Given the description of an element on the screen output the (x, y) to click on. 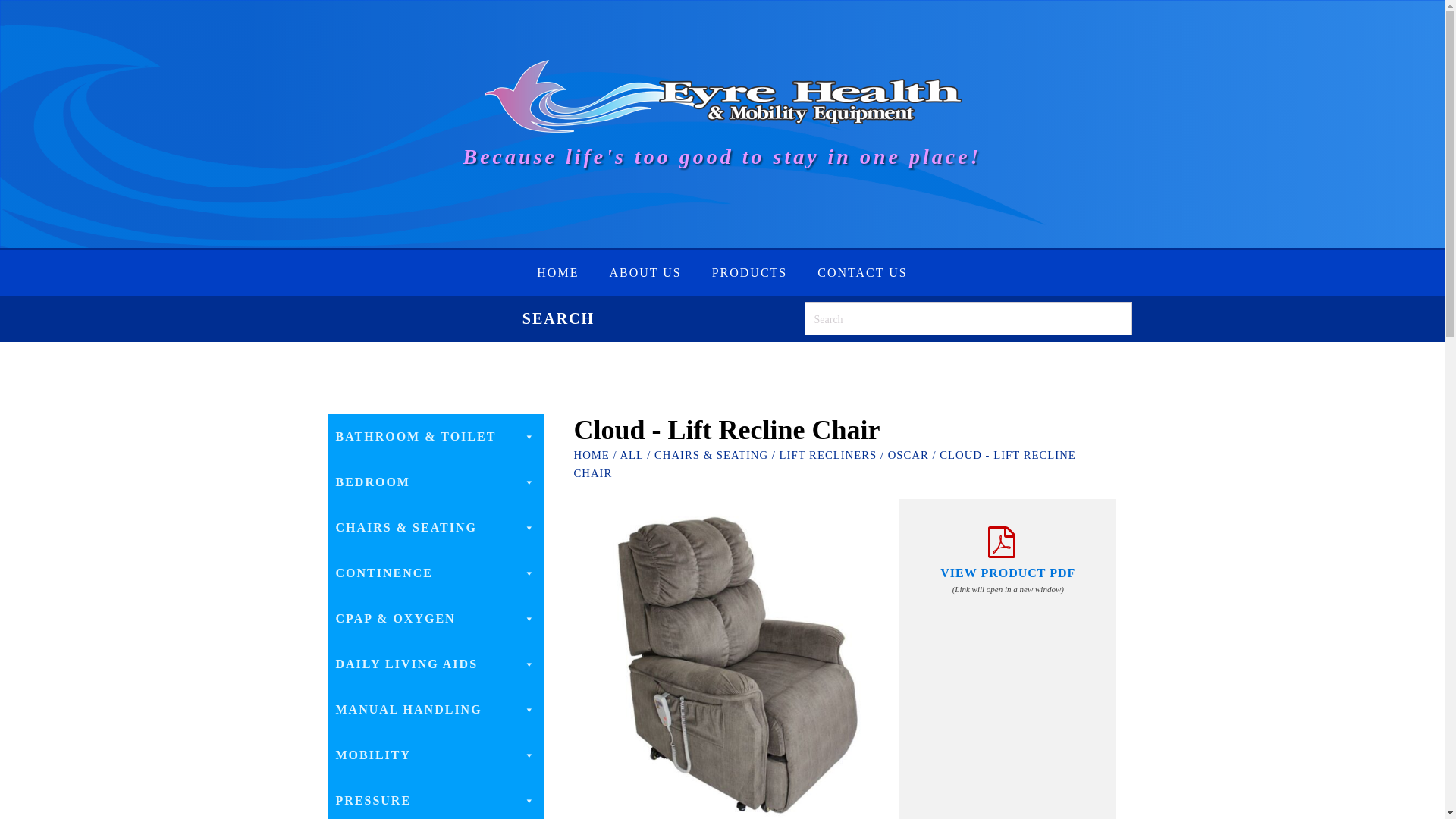
PRODUCTS (750, 272)
HOME (557, 272)
Cloud-ST-G-4-1 (736, 658)
BEDROOM (435, 482)
ABOUT US (644, 272)
CONTACT US (861, 272)
